Given the description of an element on the screen output the (x, y) to click on. 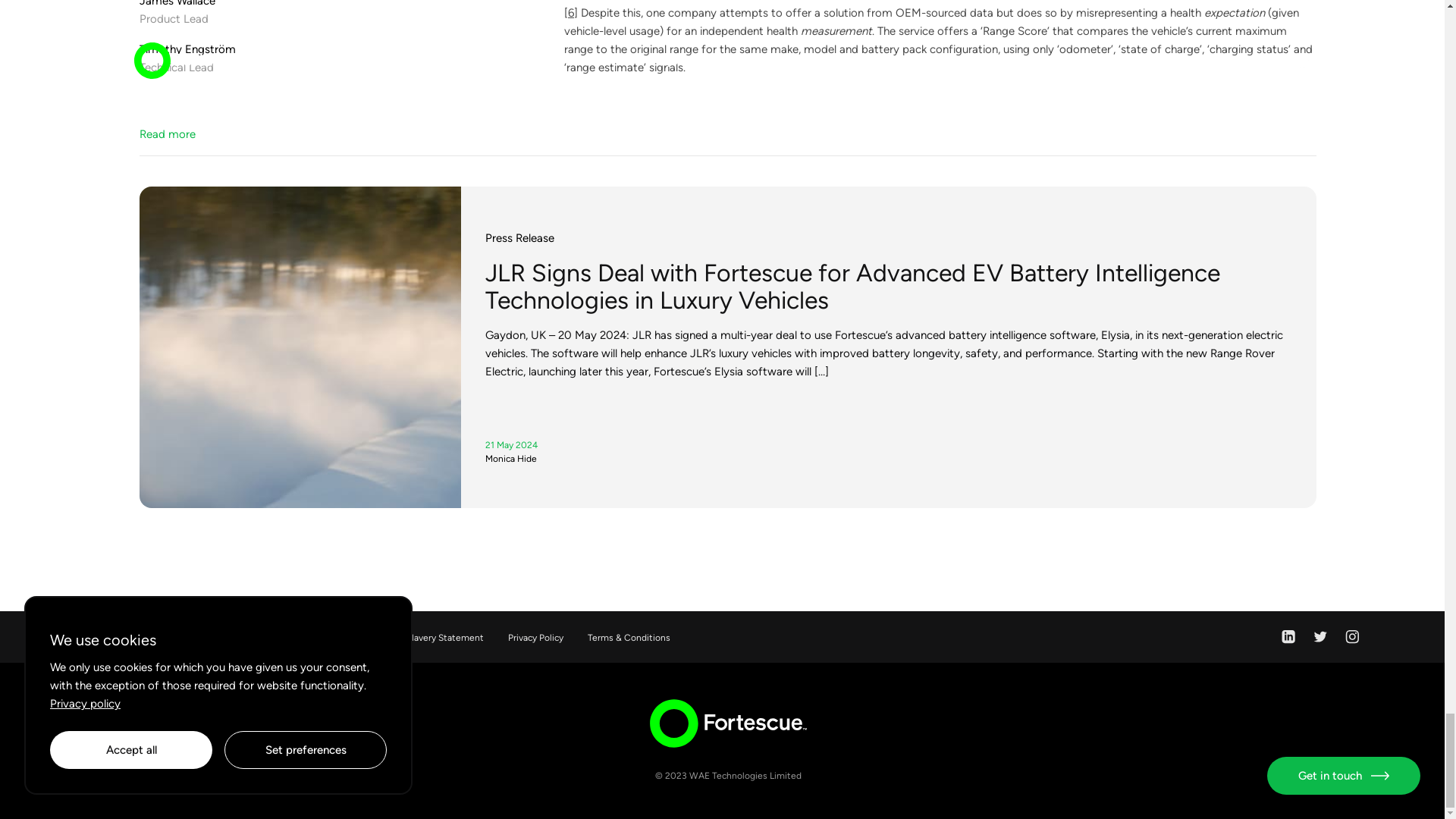
Modern Slavery Statement (427, 637)
Cookies Policy (127, 637)
Gender Pay Gap Report (298, 637)
ESG Policy (203, 637)
Privacy Policy (535, 637)
